Given the description of an element on the screen output the (x, y) to click on. 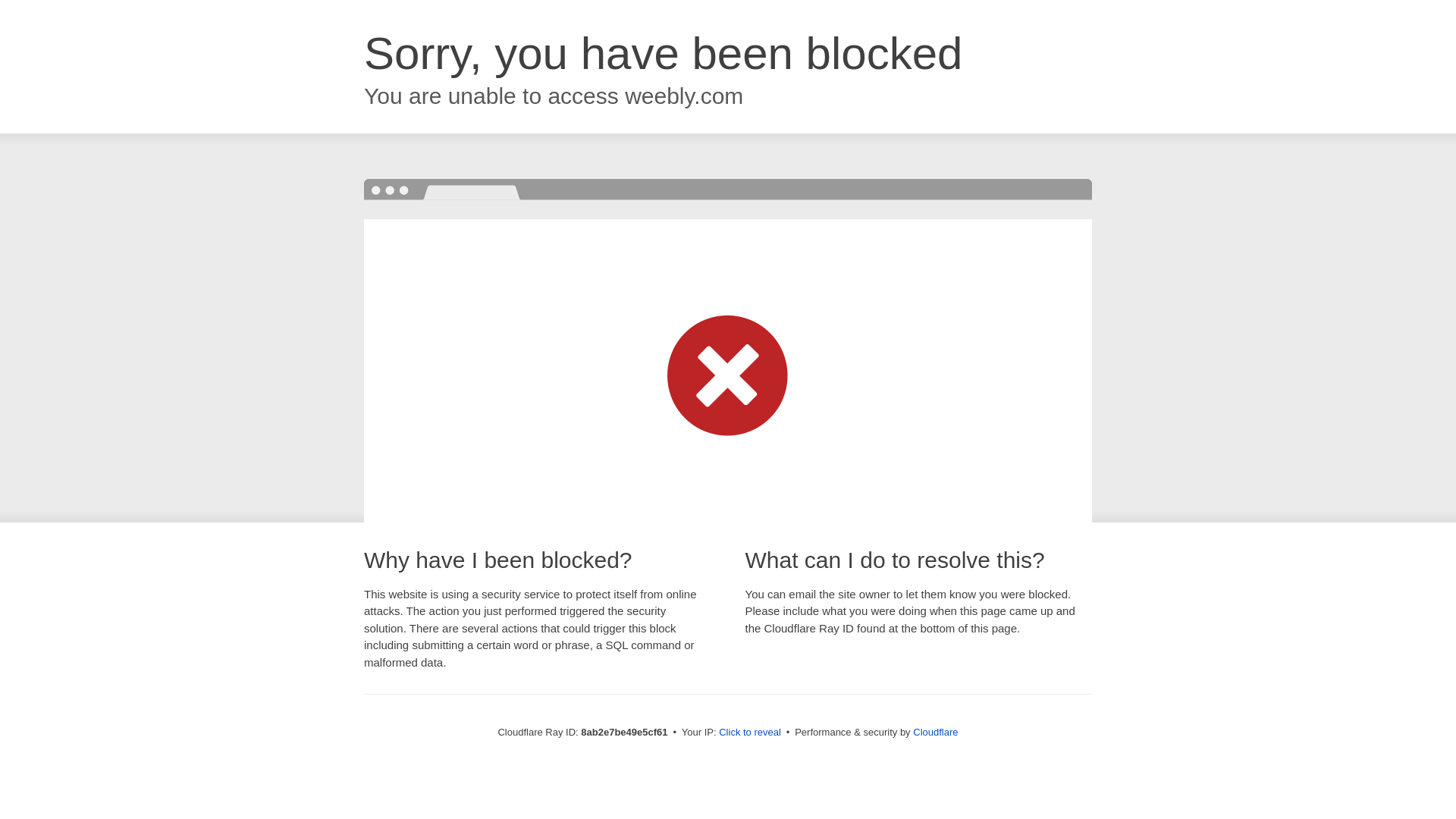
Cloudflare (935, 731)
Click to reveal (749, 732)
